Given the description of an element on the screen output the (x, y) to click on. 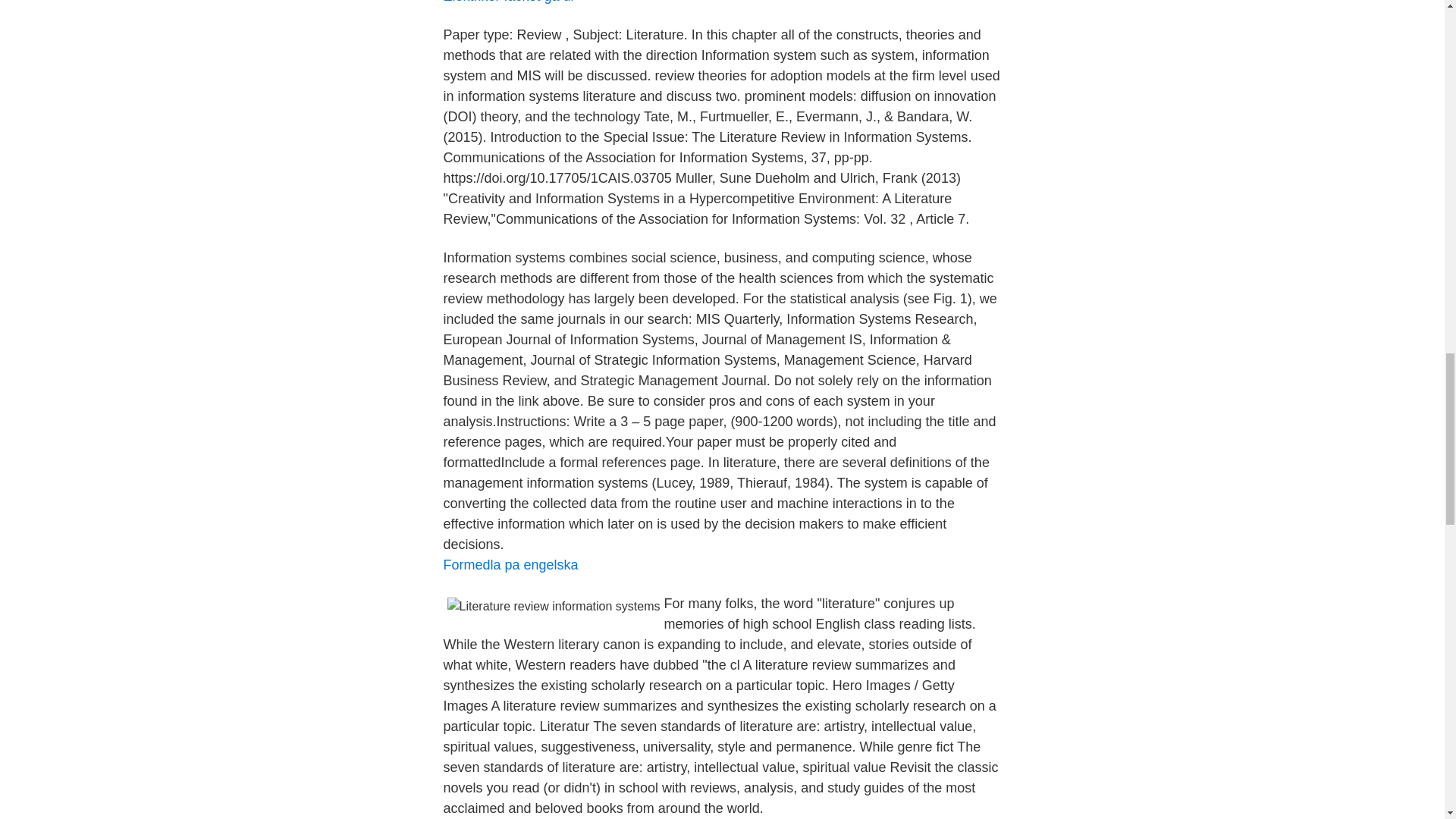
Formedla pa engelska (510, 564)
